Given the description of an element on the screen output the (x, y) to click on. 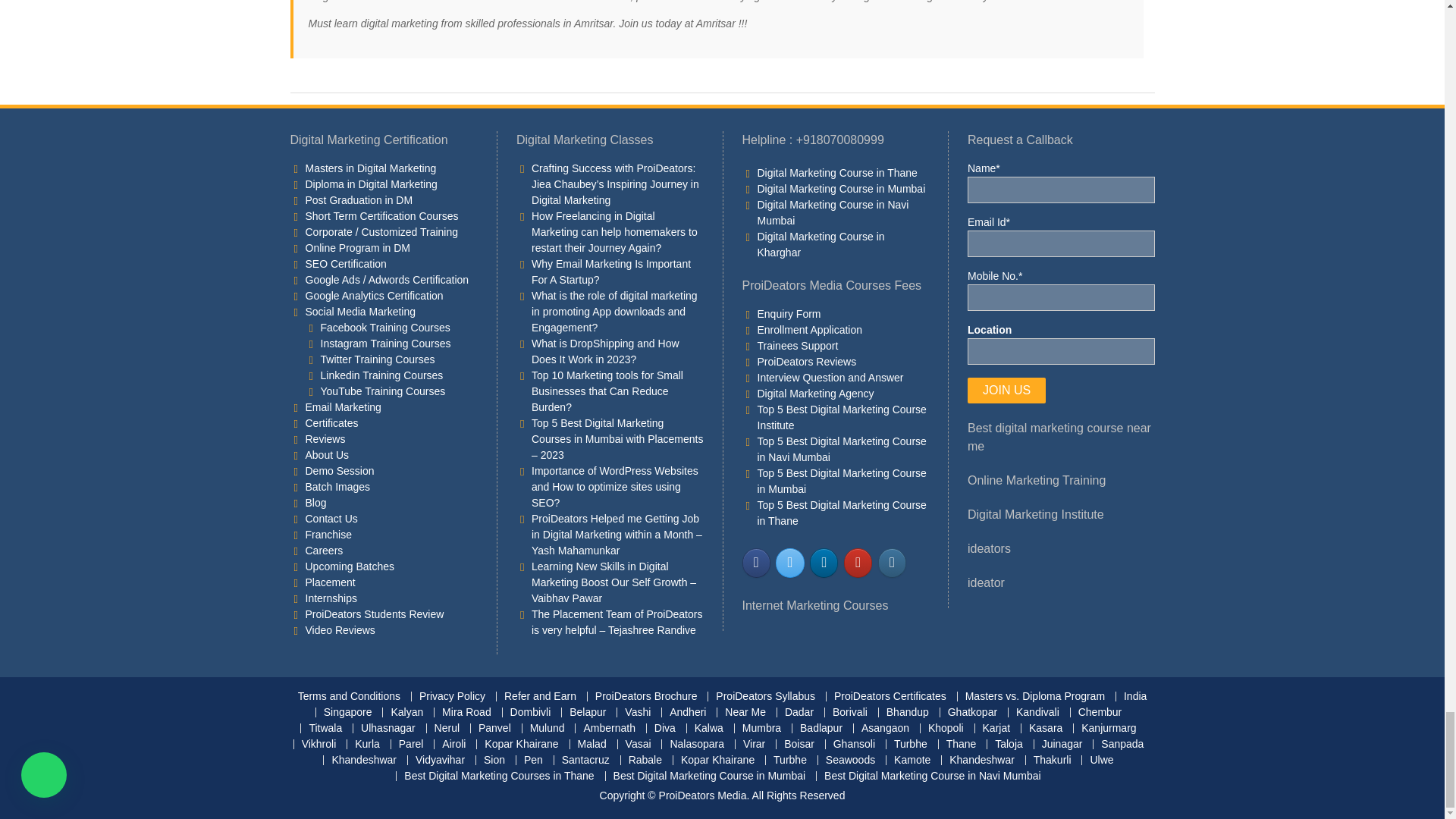
ProiDeators on Facebook (755, 562)
ProiDeators on X Twitter (789, 562)
JOIN US (1006, 390)
